Given the description of an element on the screen output the (x, y) to click on. 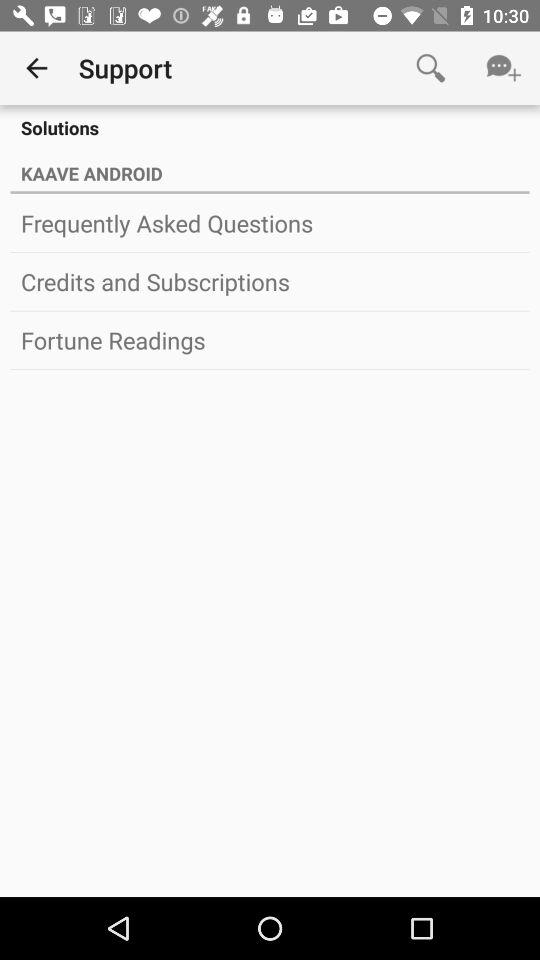
launch icon above the frequently asked questions (269, 192)
